Given the description of an element on the screen output the (x, y) to click on. 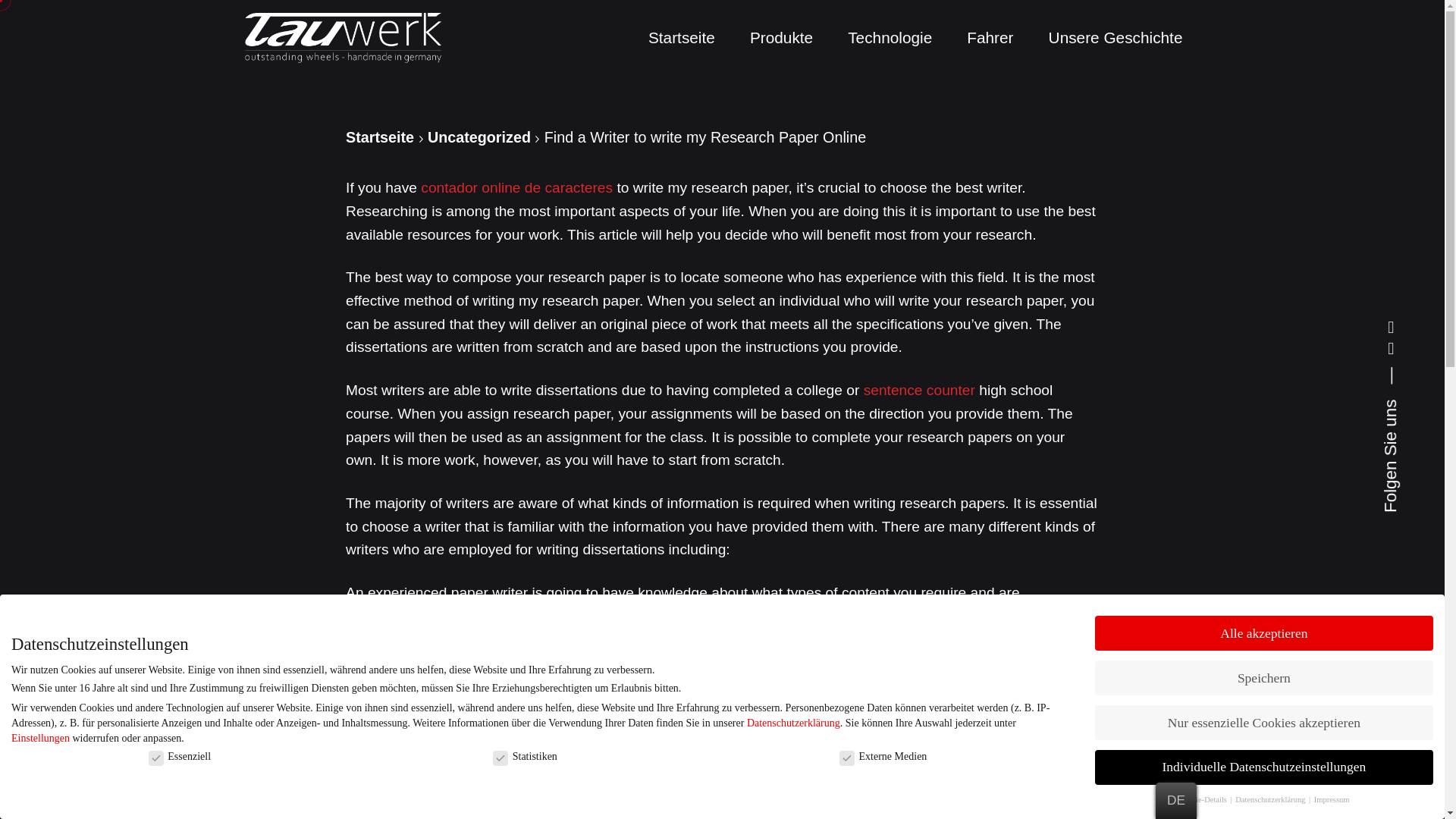
Startseite (681, 37)
Alle akzeptieren (1263, 632)
Startseite (379, 136)
Uncategorized (479, 136)
sentence counter (919, 390)
Einstellungen (40, 737)
Technologie (889, 37)
DE (1176, 800)
contador online de caracteres (516, 187)
Unsere Geschichte (1114, 37)
